Given the description of an element on the screen output the (x, y) to click on. 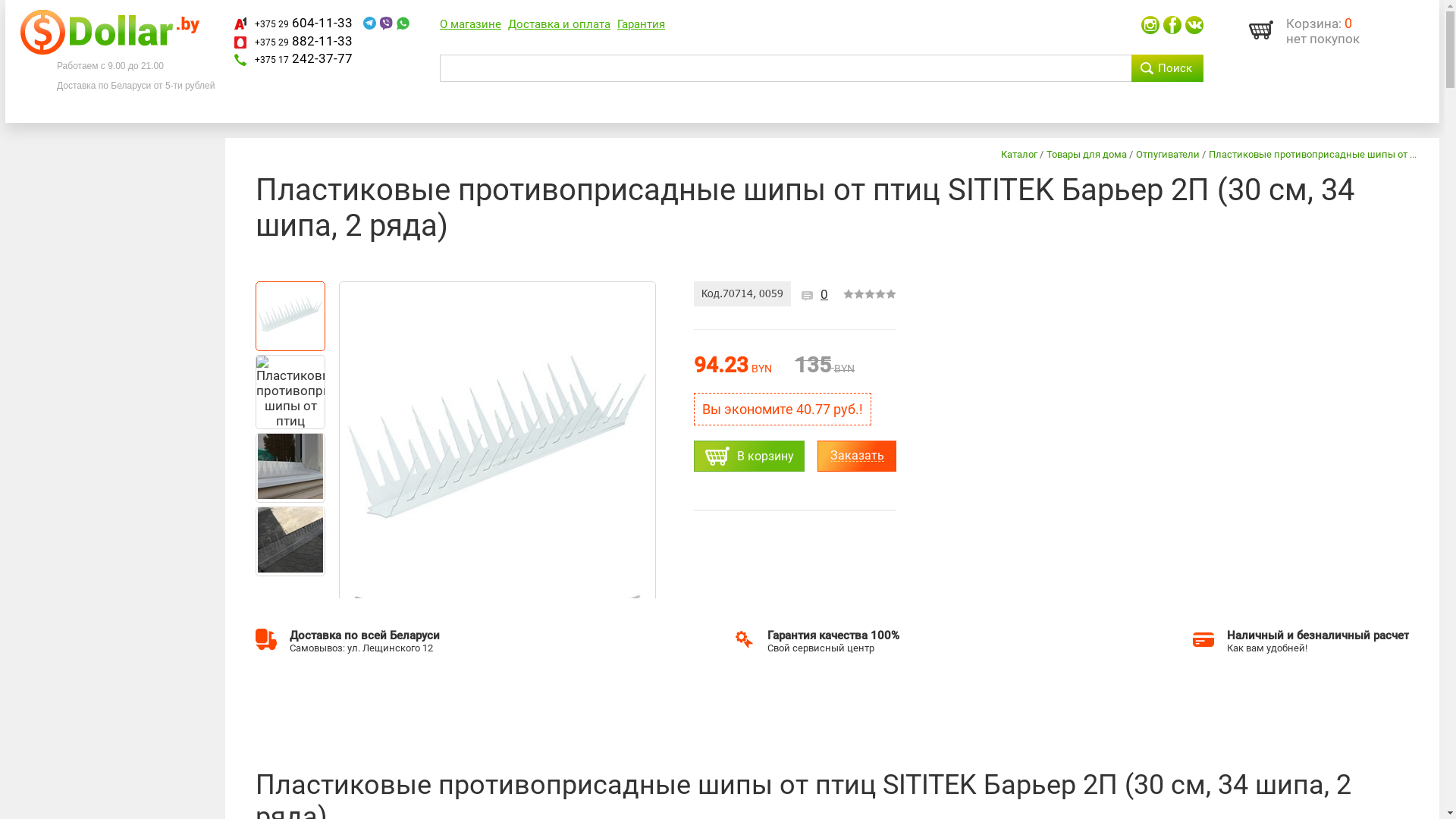
+375 29 604-11-33 Element type: text (303, 22)
+375 29 882-11-33 Element type: text (303, 40)
0 Element type: text (824, 293)
+375 17 242-37-77 Element type: text (303, 57)
